Given the description of an element on the screen output the (x, y) to click on. 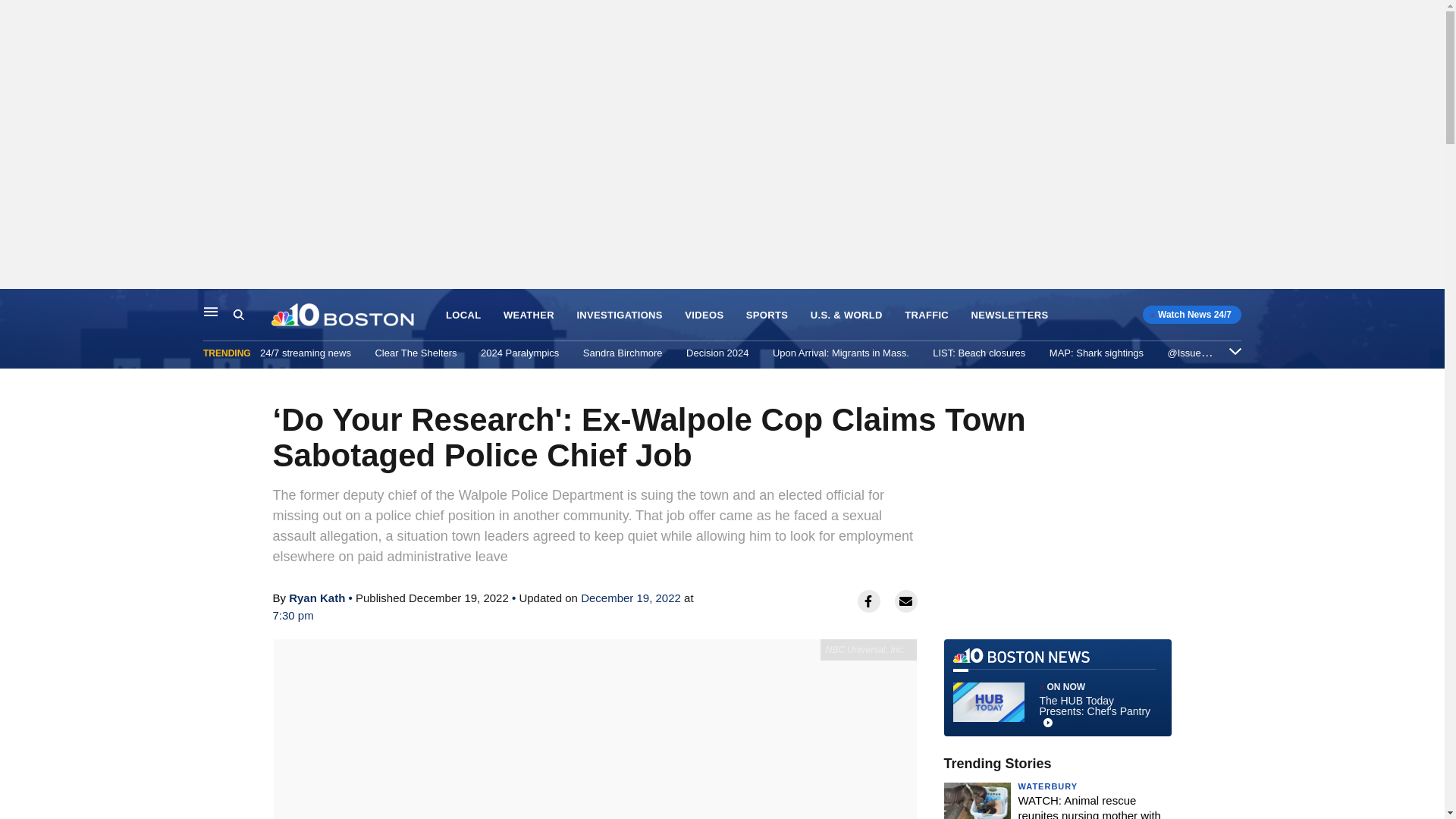
LIST: Beach closures (979, 352)
Search (238, 314)
Search (252, 314)
2024 Paralympics (519, 352)
Decision 2024 (716, 352)
WEATHER (528, 315)
Main Navigation (210, 311)
Skip to content (16, 304)
Ryan Kath (316, 597)
LOCAL (462, 315)
